Given the description of an element on the screen output the (x, y) to click on. 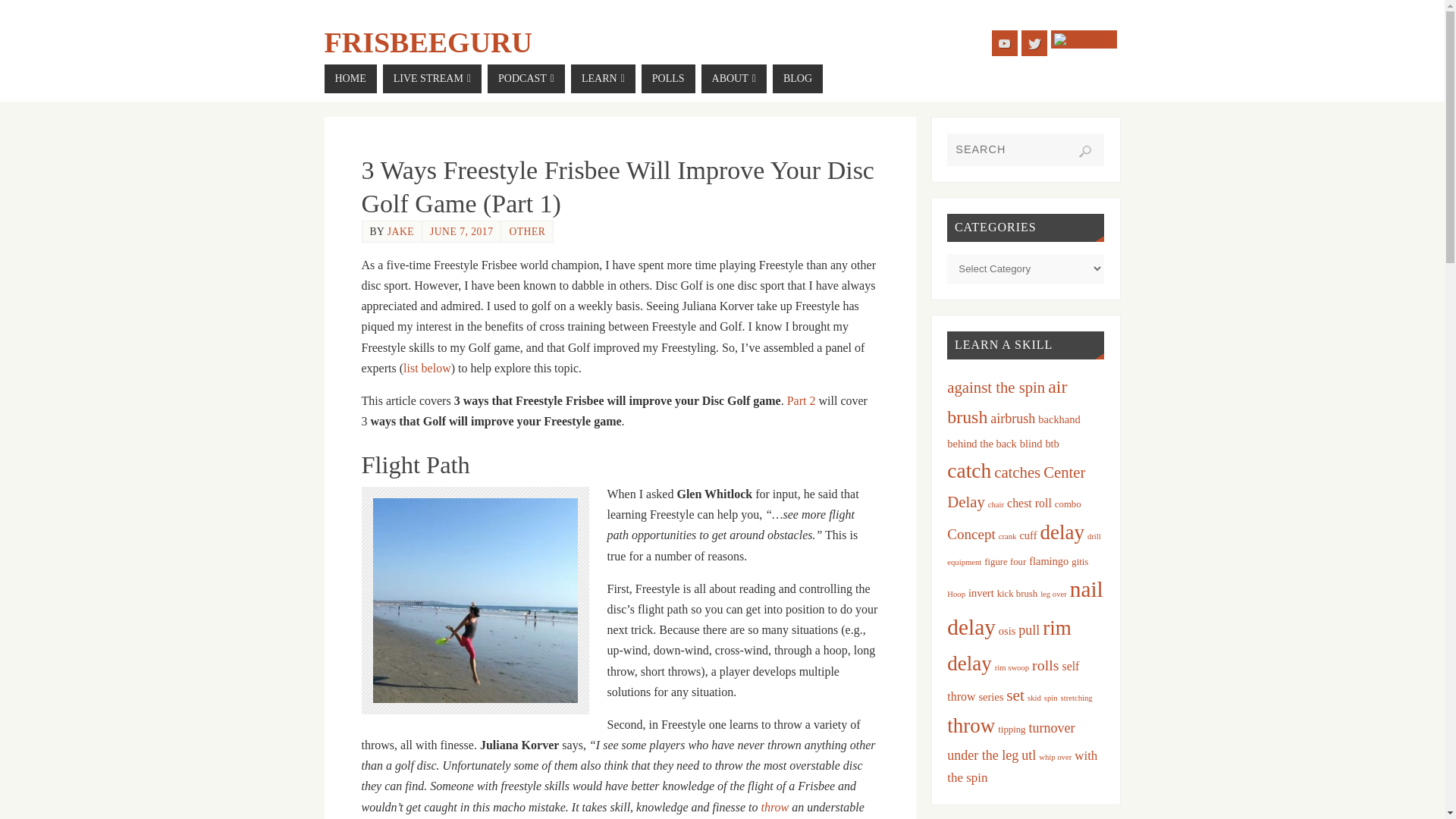
ABOUT (734, 78)
BLOG (797, 78)
OTHER (526, 231)
HOME (350, 78)
air brush (1007, 401)
JUNE 7, 2017 (461, 231)
Facebook (1083, 39)
against the spin (996, 387)
FrisbeeGuru (428, 42)
Twitter (1034, 43)
